Given the description of an element on the screen output the (x, y) to click on. 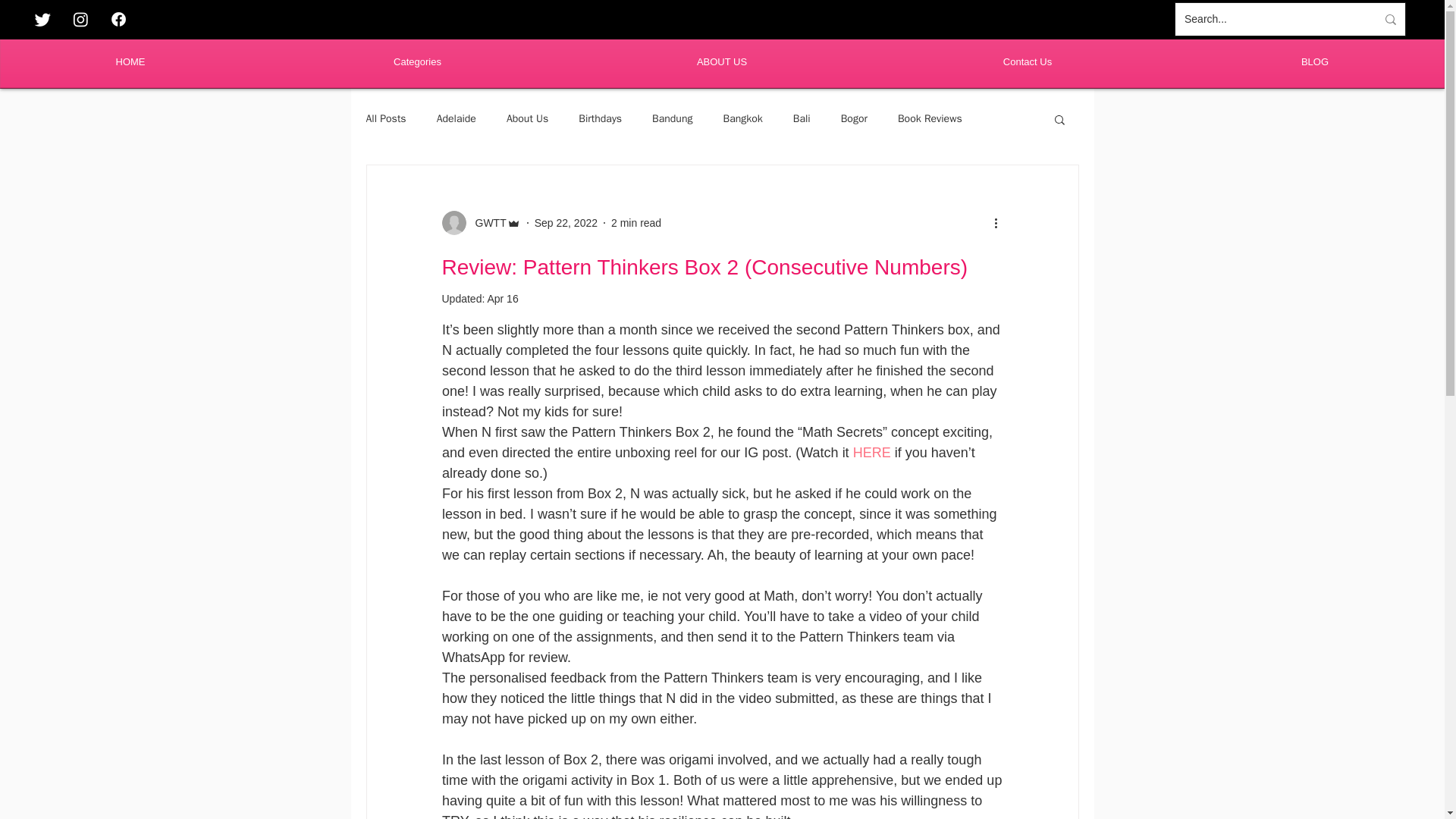
ABOUT US (721, 61)
HOME (130, 61)
Categories (416, 61)
Sep 22, 2022 (565, 223)
All Posts (385, 119)
2 min read (636, 223)
Birthdays (599, 119)
Contact Us (1027, 61)
Bangkok (741, 119)
Book Reviews (930, 119)
About Us (527, 119)
Bogor (854, 119)
Bandung (672, 119)
GWTT (485, 222)
Apr 16 (502, 298)
